Given the description of an element on the screen output the (x, y) to click on. 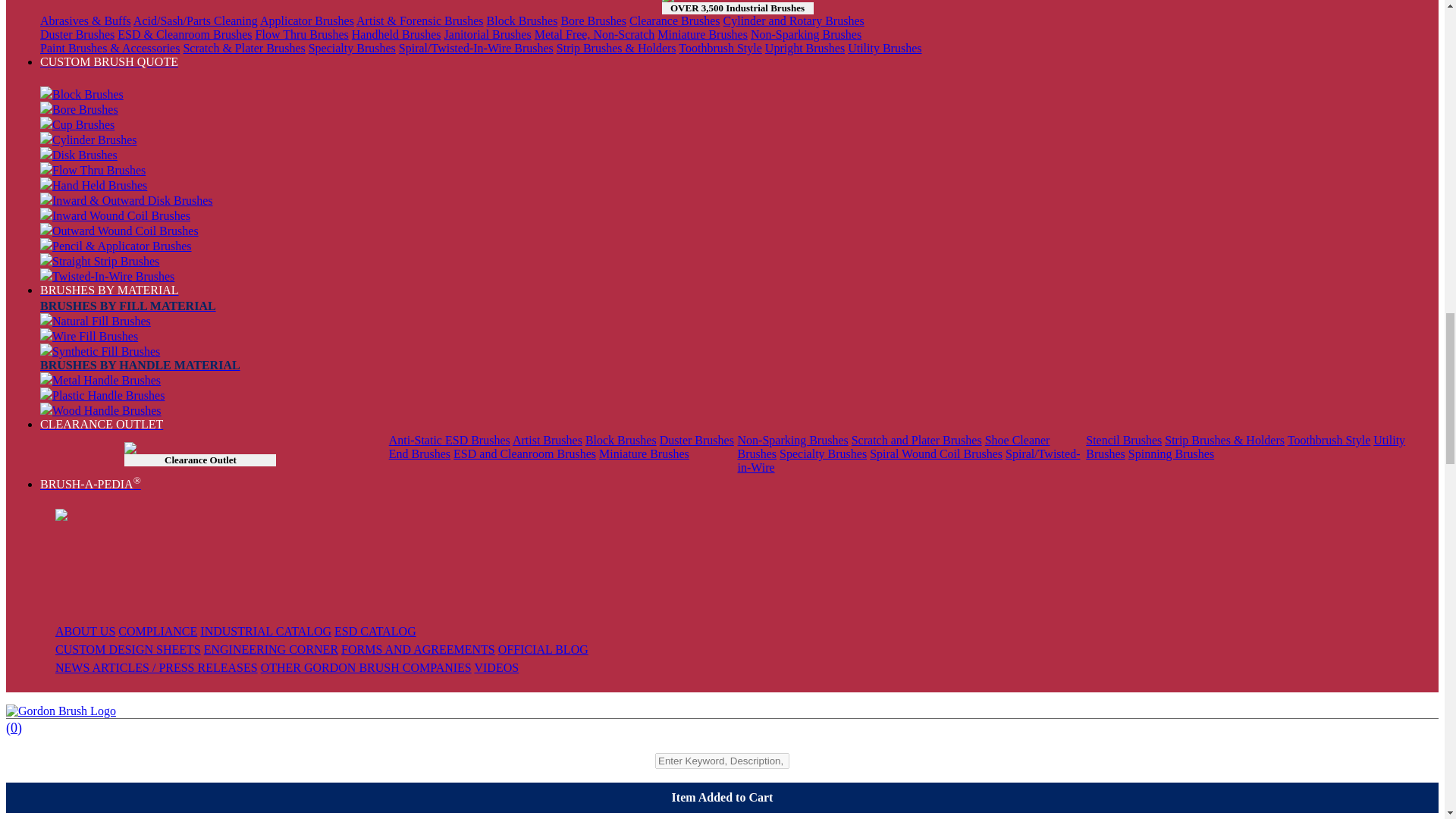
Enter Keyword, Description, Item or NSN (722, 760)
Gordon Brush Logo (60, 711)
